Given the description of an element on the screen output the (x, y) to click on. 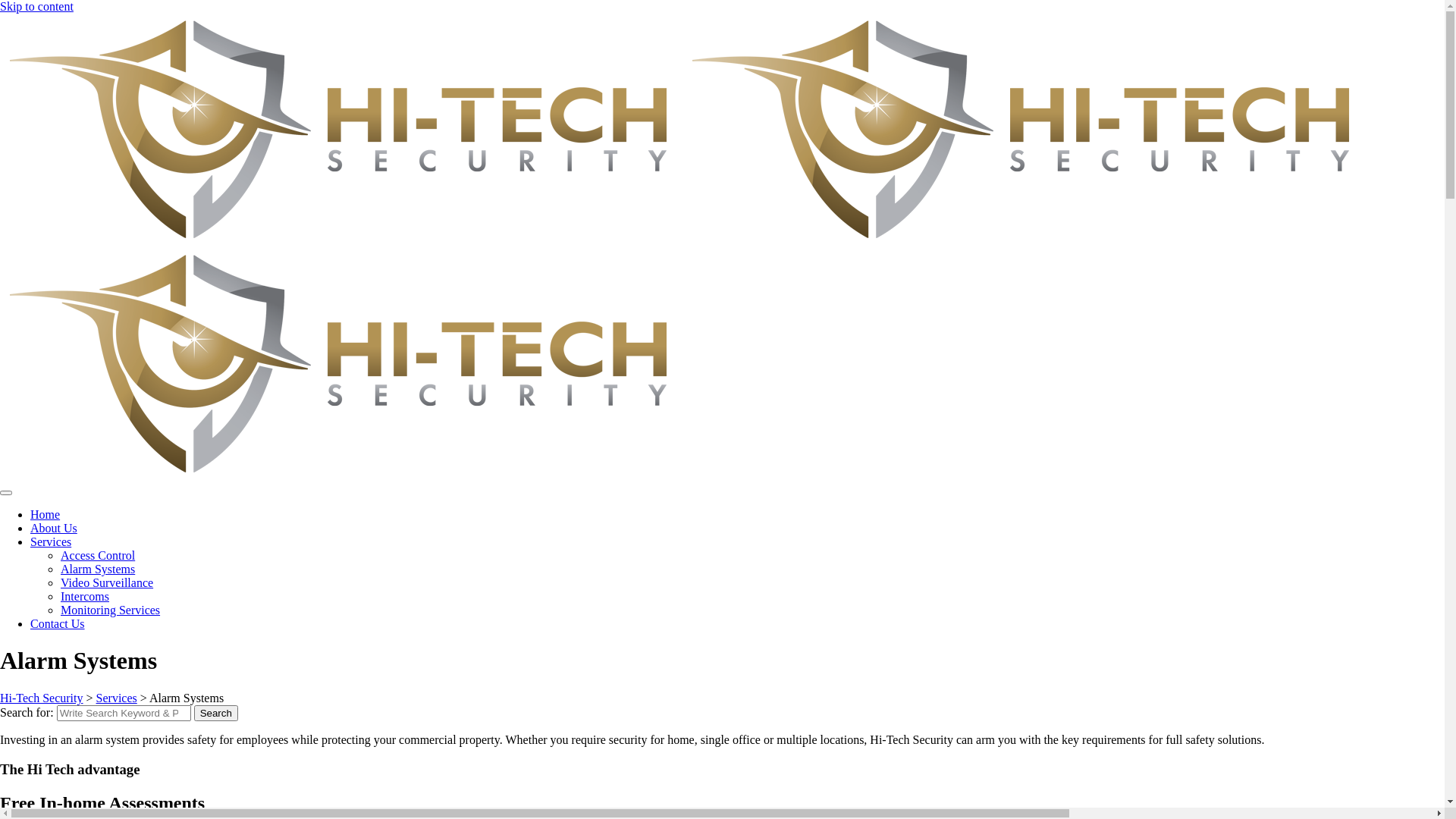
Hi-Tech Security Element type: hover (341, 363)
Intercoms Element type: text (84, 595)
Video Surveillance Element type: text (106, 582)
Search Element type: text (216, 713)
Contact Us Element type: text (57, 623)
Monitoring Services Element type: text (110, 609)
Services Element type: text (50, 541)
Hi-Tech Security Element type: text (41, 697)
Hi-Tech Security Element type: hover (341, 128)
About Us Element type: text (53, 527)
Services Element type: text (116, 697)
Home Element type: text (44, 514)
Access Control Element type: text (97, 555)
Alarm Systems Element type: text (97, 568)
Skip to content Element type: text (36, 6)
Hi-Tech Security Element type: hover (1023, 128)
